Given the description of an element on the screen output the (x, y) to click on. 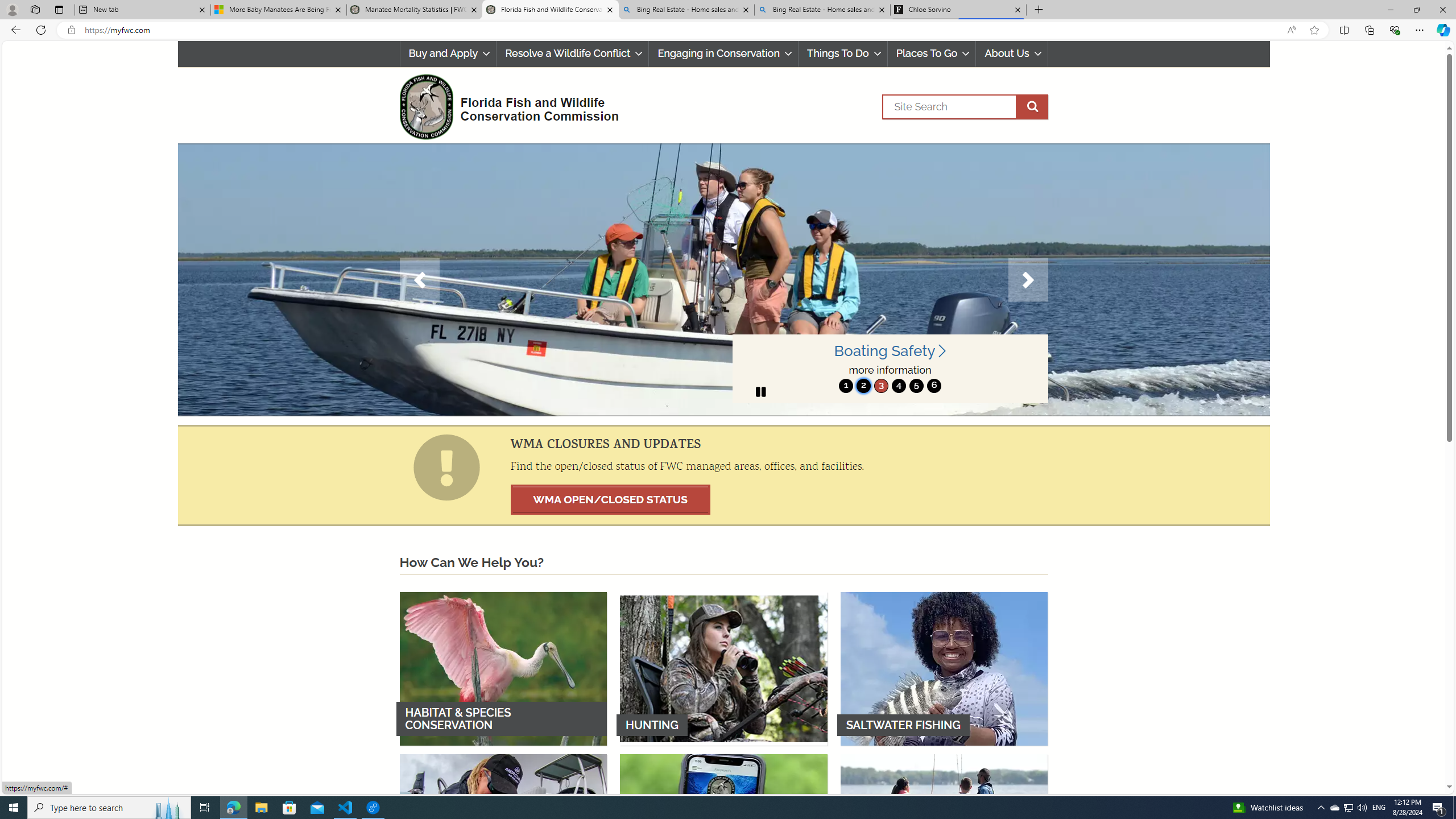
slider pause button (760, 391)
Buy and Apply (448, 53)
Engaging in Conservation (724, 53)
FWC Logo Florida Fish and Wildlife Conservation Commission (504, 104)
HUNTING (723, 668)
About Us (1011, 53)
View site information (70, 29)
Florida Fish and Wildlife Conservation Commission | FWC (550, 9)
Workspaces (34, 9)
Buy and Apply (447, 53)
App bar (728, 29)
HABITAT & SPECIES CONSERVATION (502, 668)
Restore (1416, 9)
Read aloud this page (Ctrl+Shift+U) (1291, 29)
About Us (1011, 53)
